Given the description of an element on the screen output the (x, y) to click on. 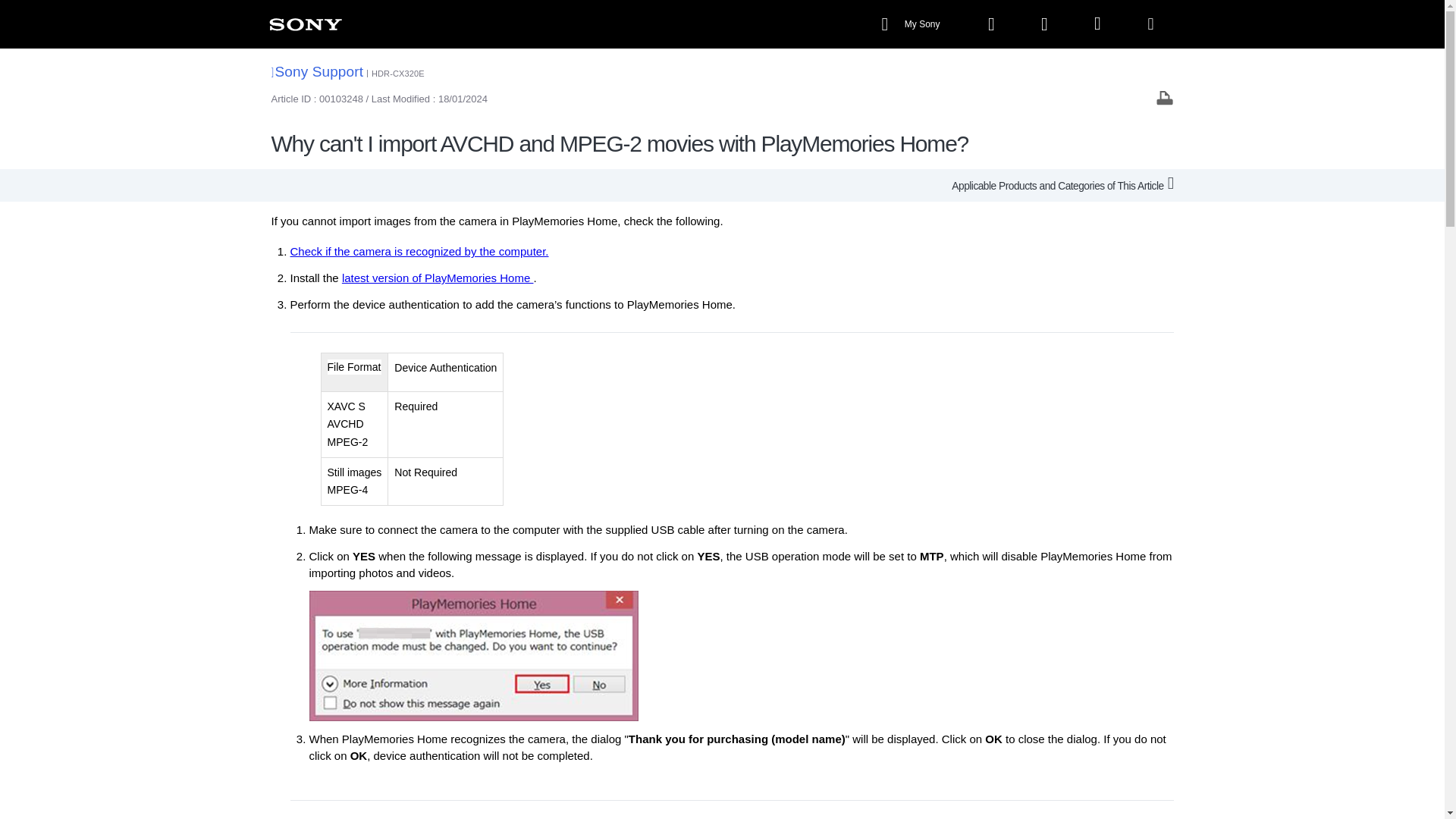
Print (1164, 97)
My Sony (912, 24)
